Given the description of an element on the screen output the (x, y) to click on. 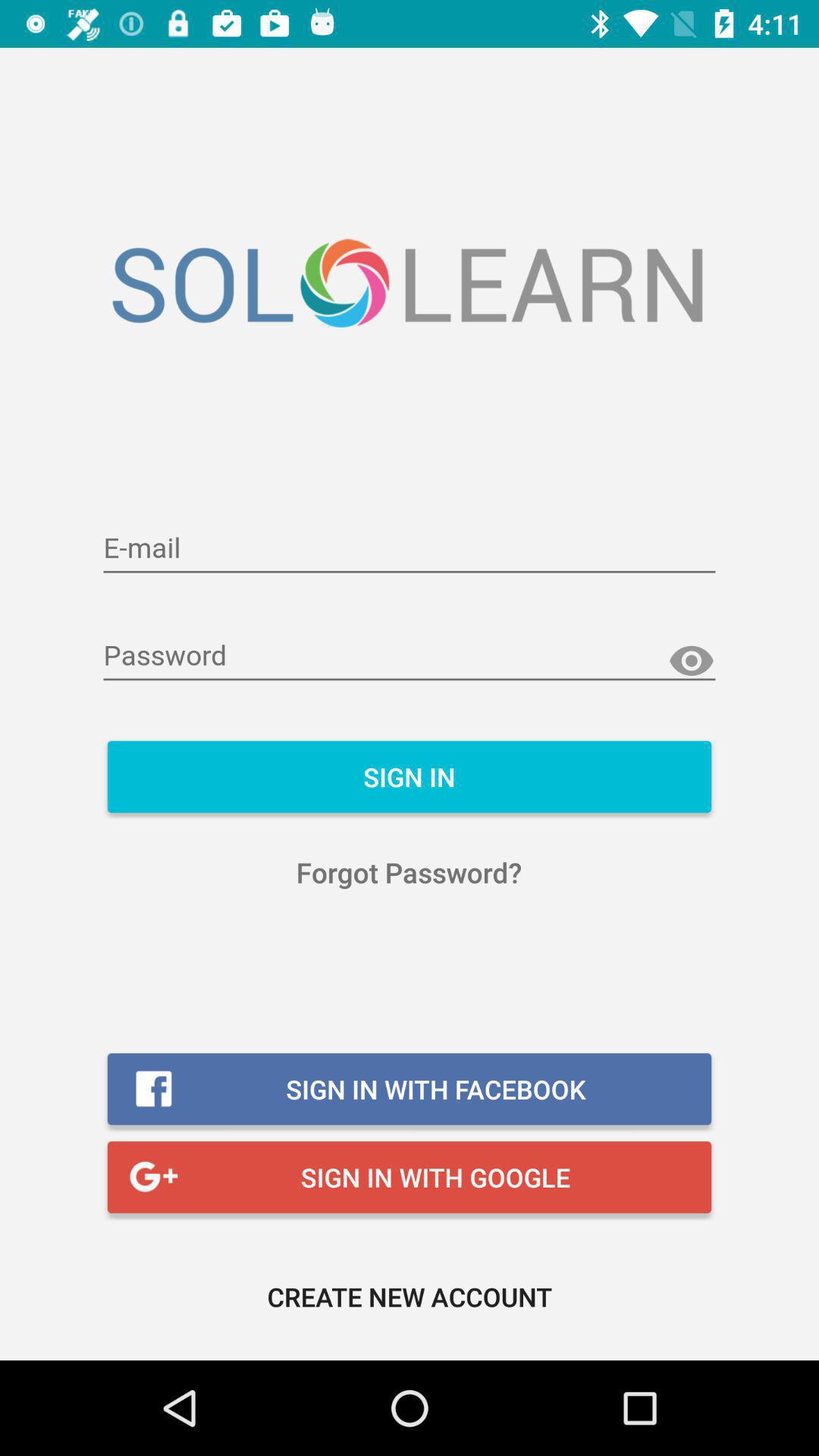
press forgot password? (409, 872)
